Given the description of an element on the screen output the (x, y) to click on. 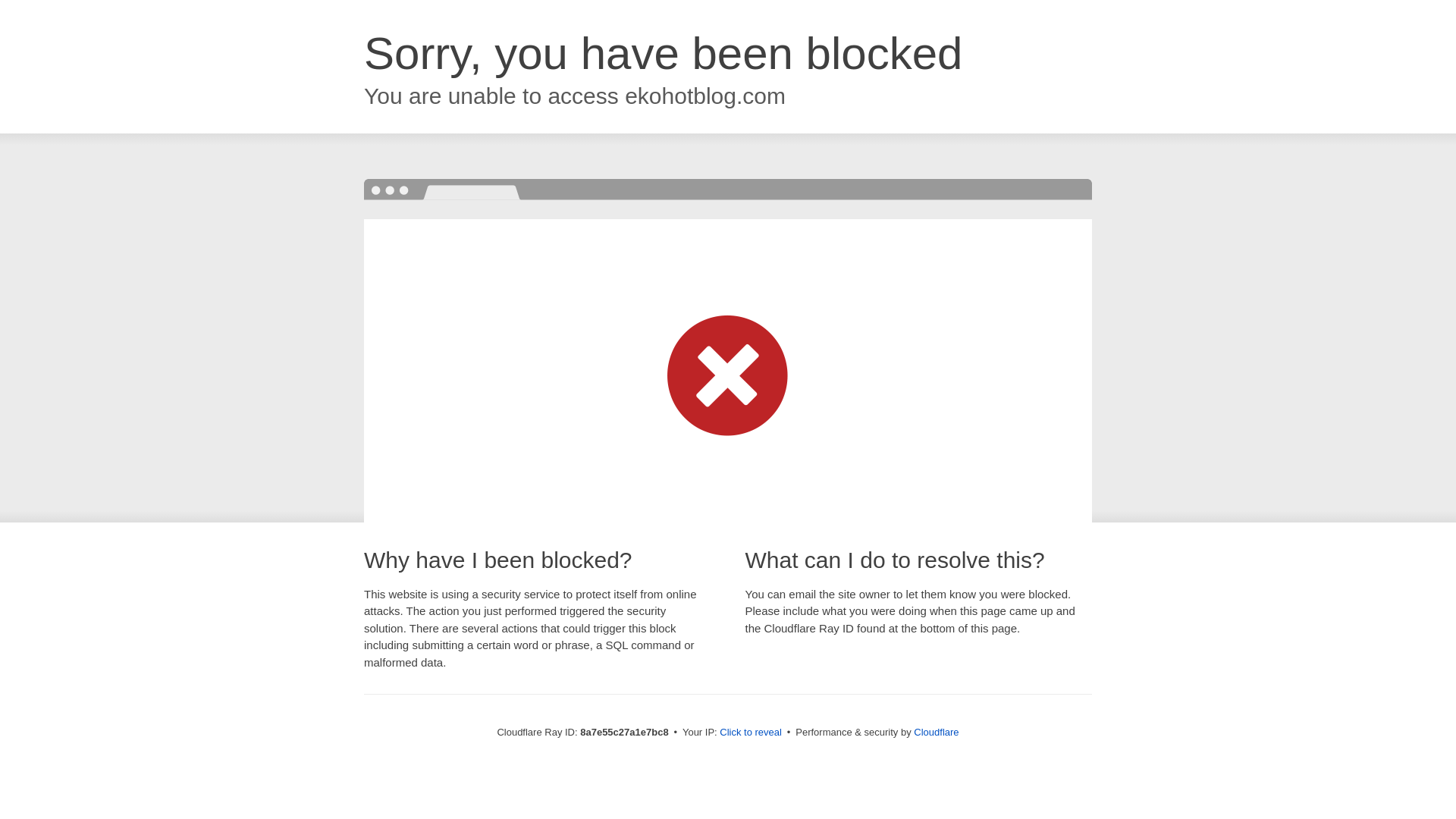
Cloudflare (936, 731)
Click to reveal (750, 732)
